Given the description of an element on the screen output the (x, y) to click on. 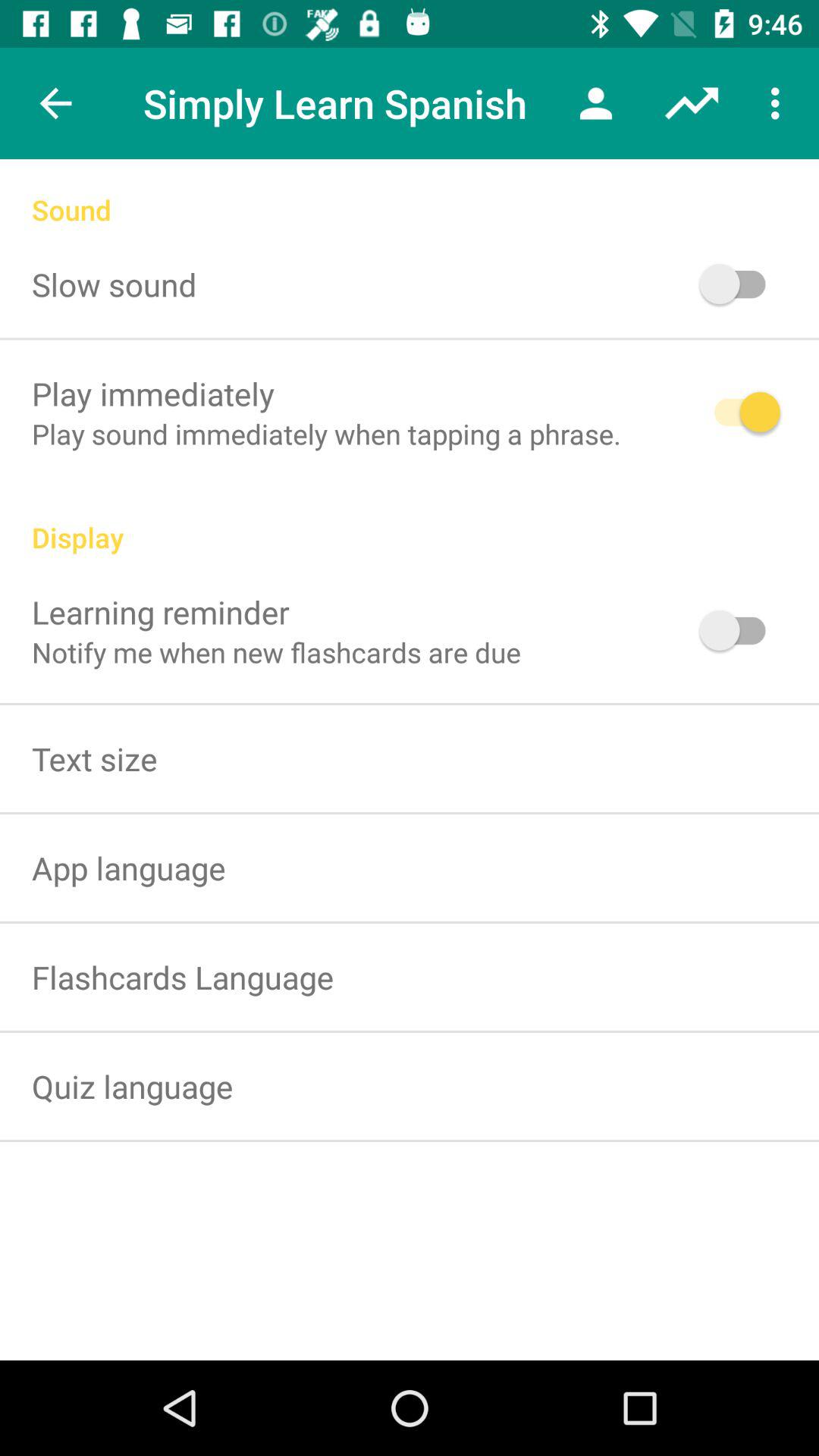
choose the quiz language (132, 1085)
